Given the description of an element on the screen output the (x, y) to click on. 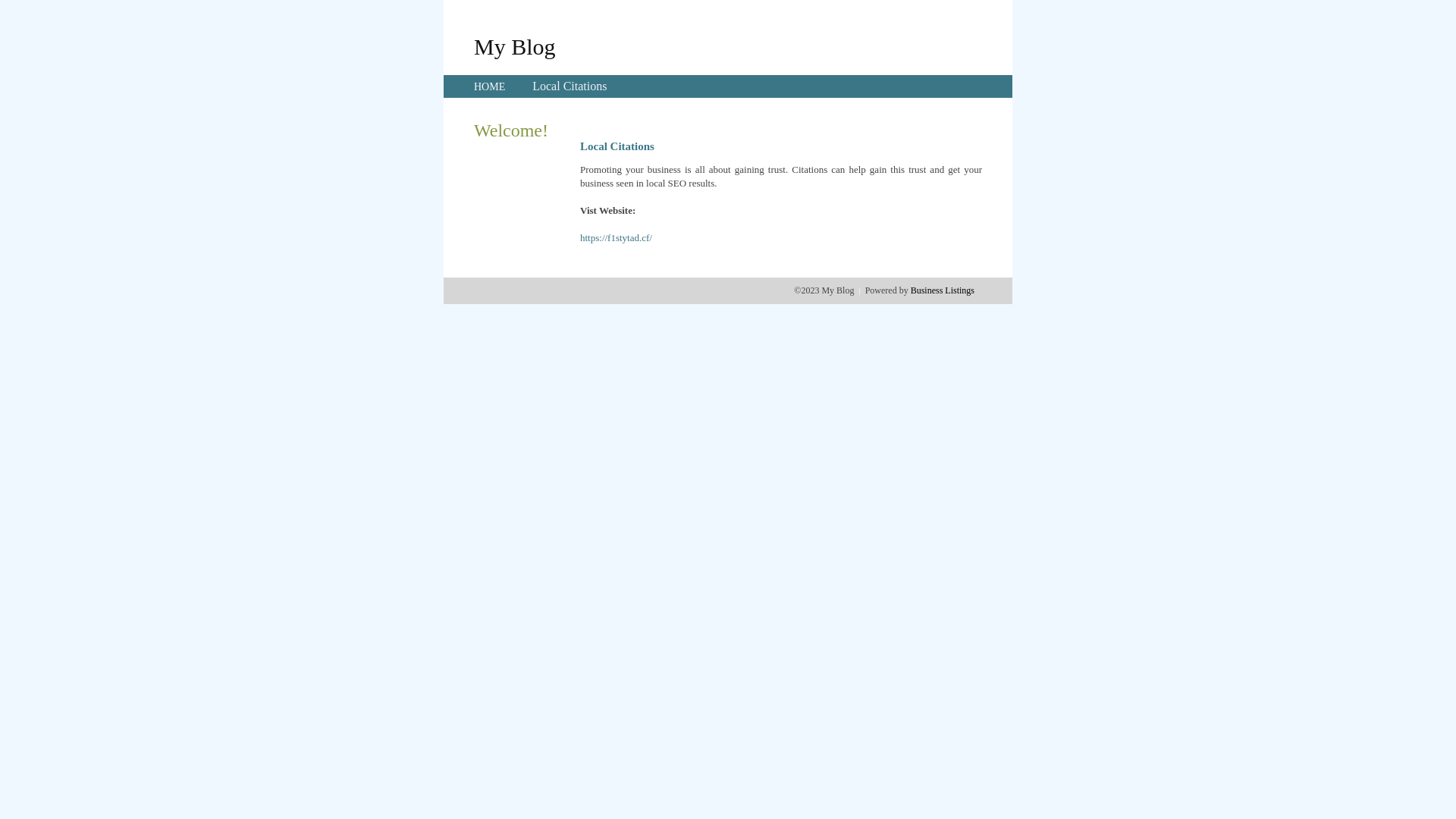
My Blog Element type: text (514, 46)
Business Listings Element type: text (942, 290)
https://f1stytad.cf/ Element type: text (616, 237)
HOME Element type: text (489, 86)
Local Citations Element type: text (569, 85)
